Given the description of an element on the screen output the (x, y) to click on. 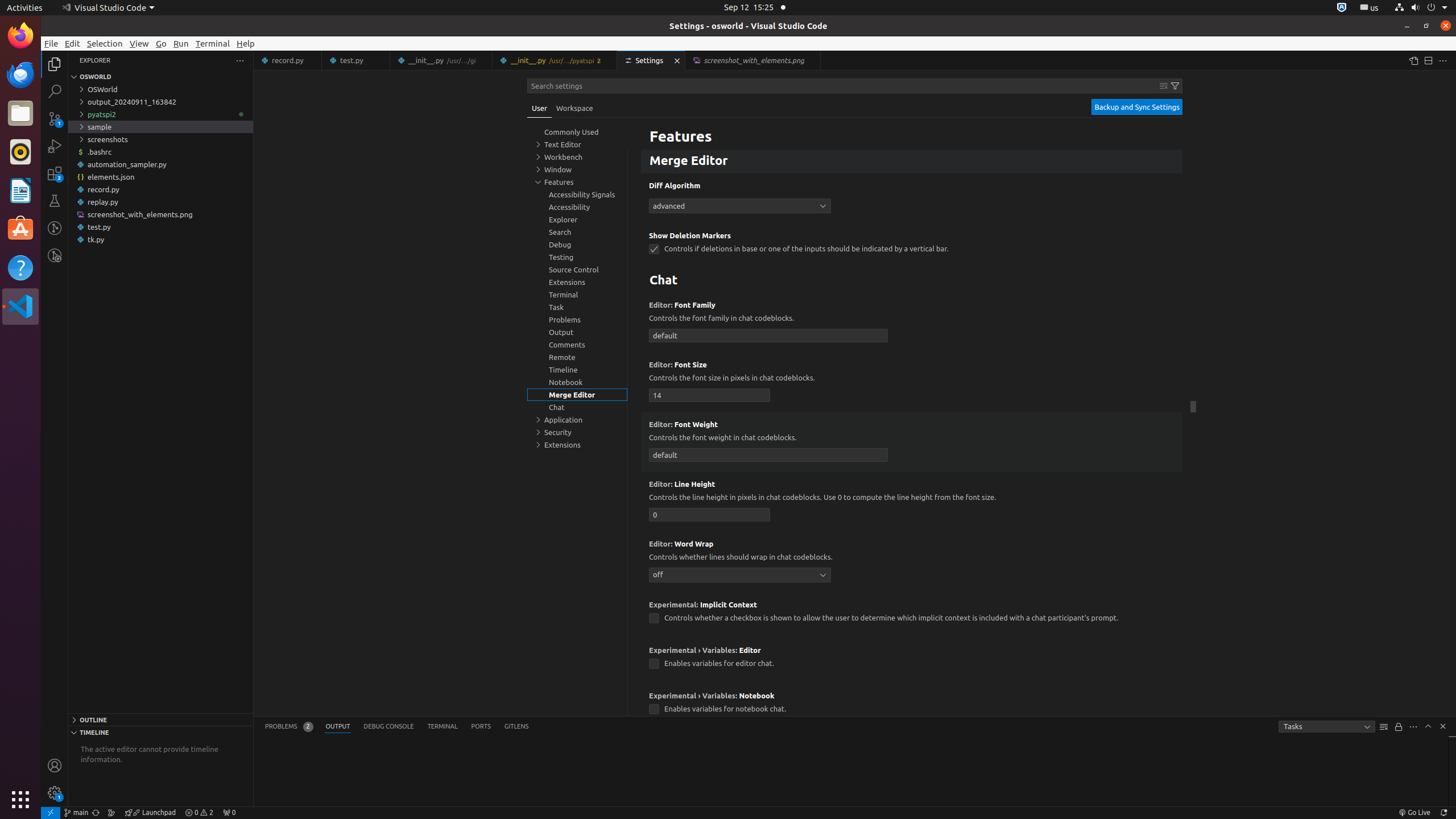
Settings Element type: page-tab (651, 60)
chat.editor.lineHeight Element type: spin-button (709, 513)
screenshot_with_elements.png, preview Element type: page-tab (753, 60)
